Given the description of an element on the screen output the (x, y) to click on. 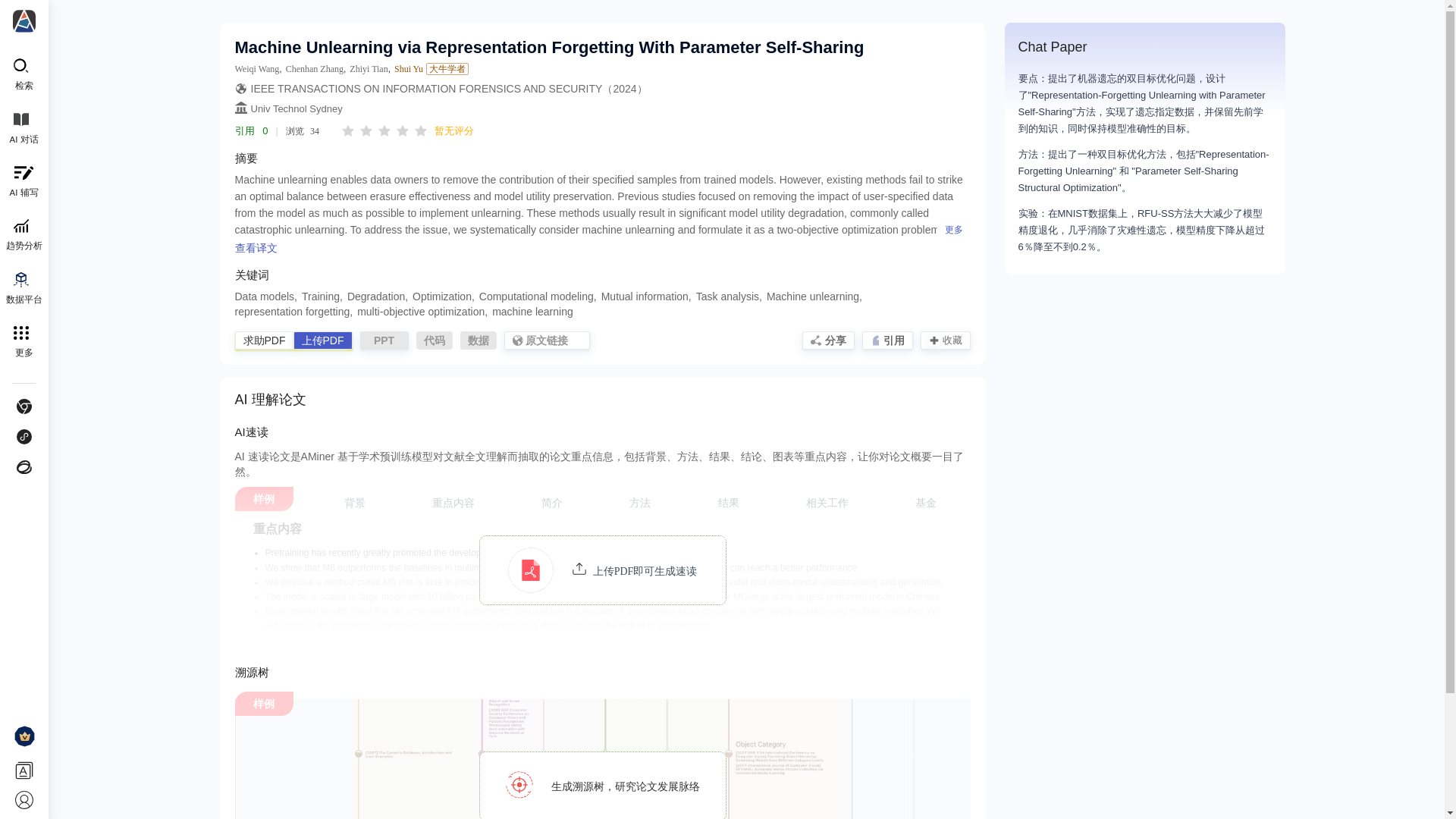
Shui Yu (408, 69)
Univ Technol Sydney (296, 108)
Weiqi Wang (256, 69)
Chenhan Zhang (314, 69)
Zhiyi Tian (368, 69)
